Given the description of an element on the screen output the (x, y) to click on. 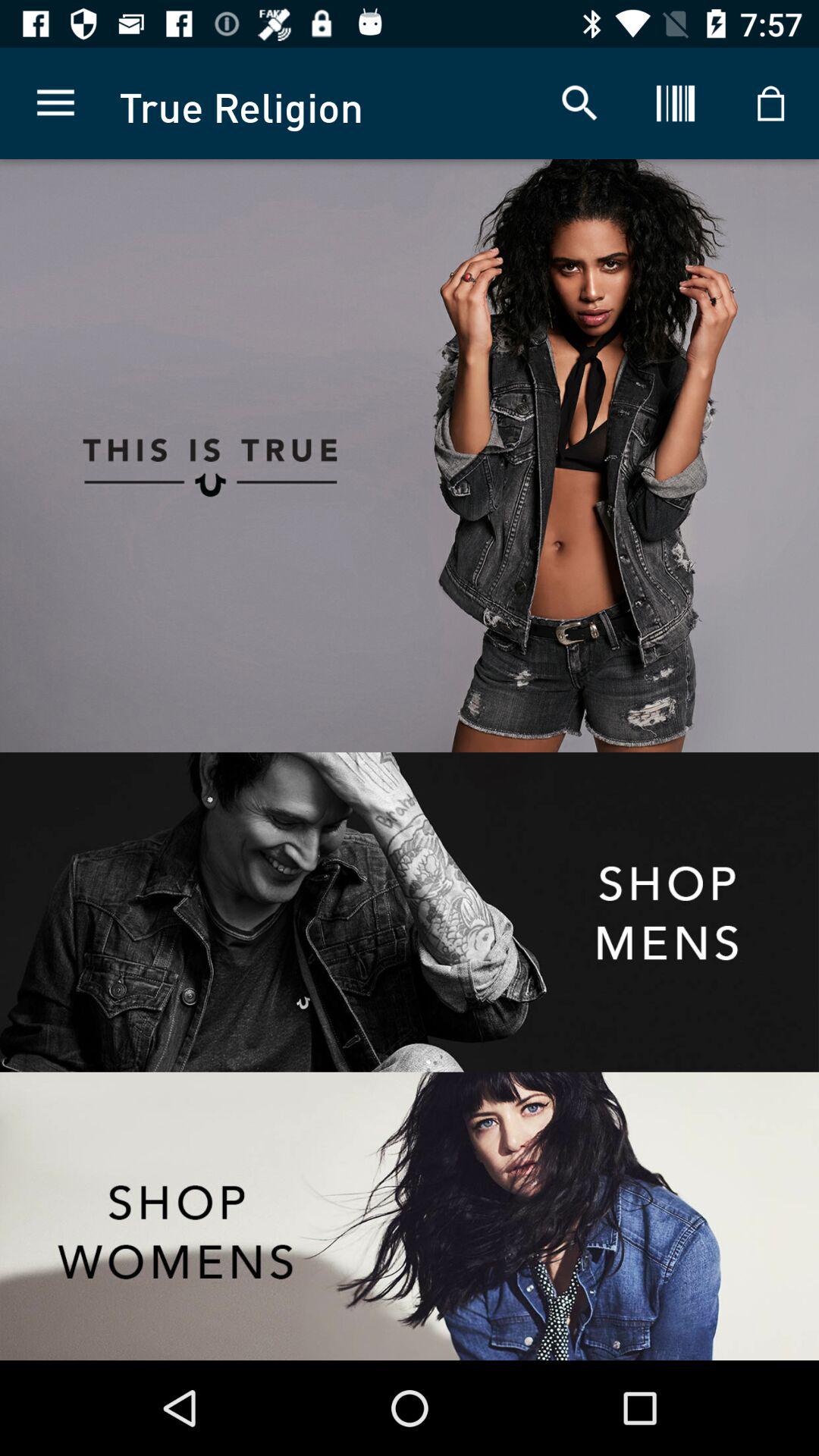
go to this is true (204, 455)
